Given the description of an element on the screen output the (x, y) to click on. 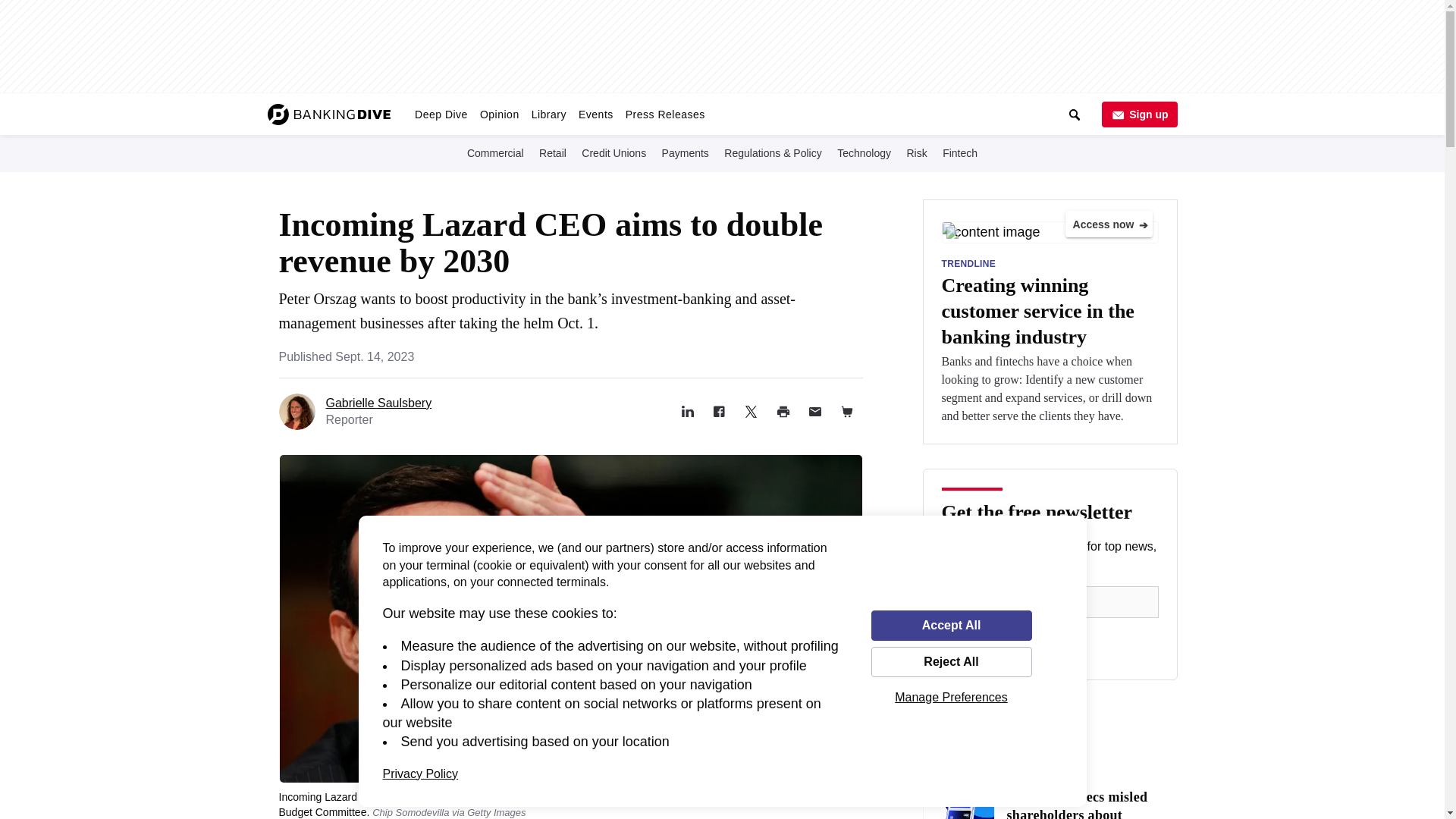
Commercial (495, 152)
Fintech (959, 152)
Payments (685, 152)
Technology (863, 152)
Credit Unions (613, 152)
Sign up (1138, 114)
Accept All (950, 625)
Gabrielle Saulsbery (379, 402)
Reject All (950, 662)
Deep Dive (441, 114)
Privacy Policy (419, 773)
Library (548, 114)
Events (596, 114)
Retail (552, 152)
Manage Preferences (950, 697)
